Given the description of an element on the screen output the (x, y) to click on. 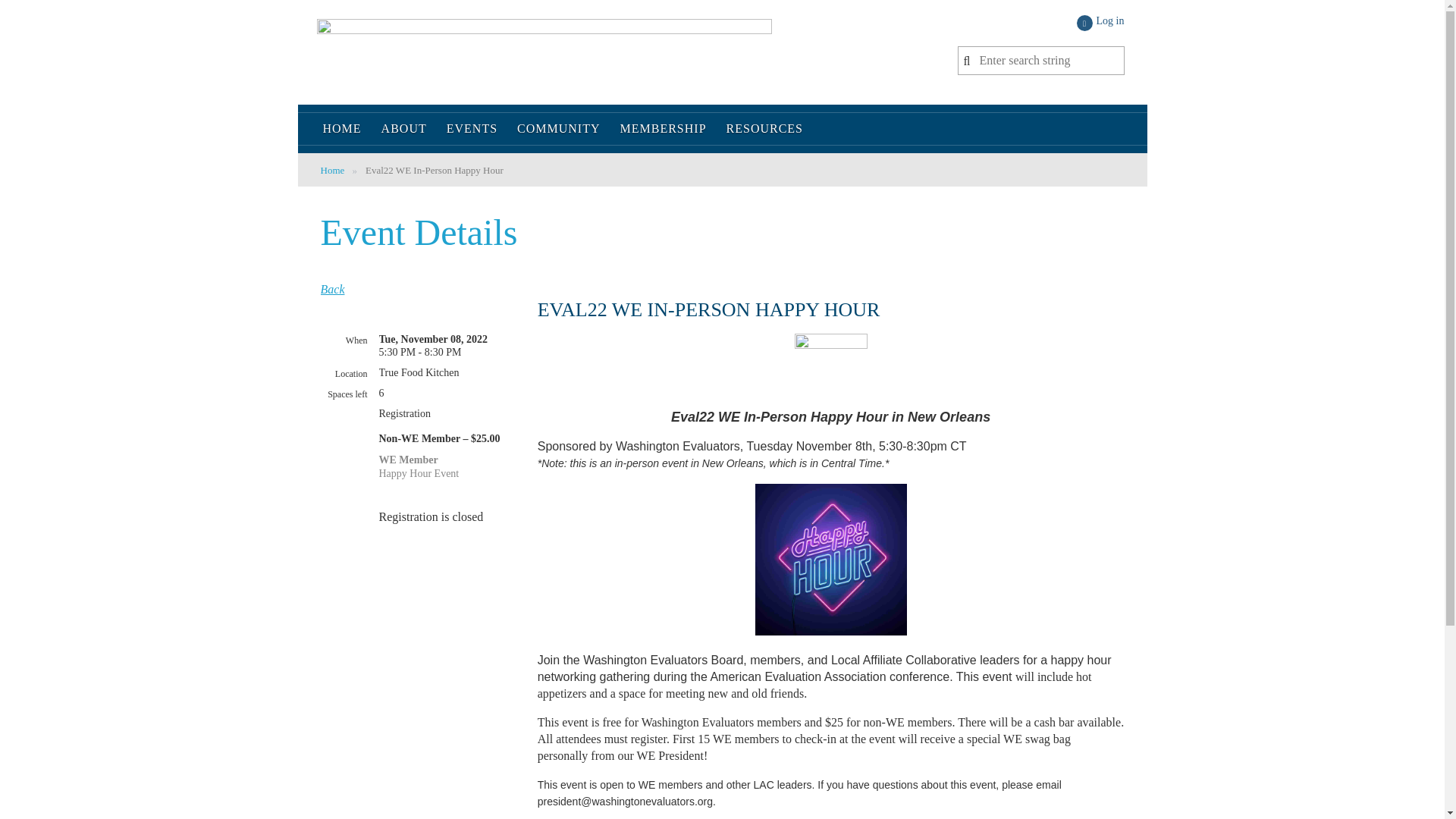
COMMUNITY (558, 128)
Events  (471, 128)
Home (342, 128)
ABOUT (403, 128)
Back (331, 288)
EVENTS (471, 128)
MEMBERSHIP (663, 128)
RESOURCES (759, 128)
HOME (342, 128)
About (403, 128)
